Given the description of an element on the screen output the (x, y) to click on. 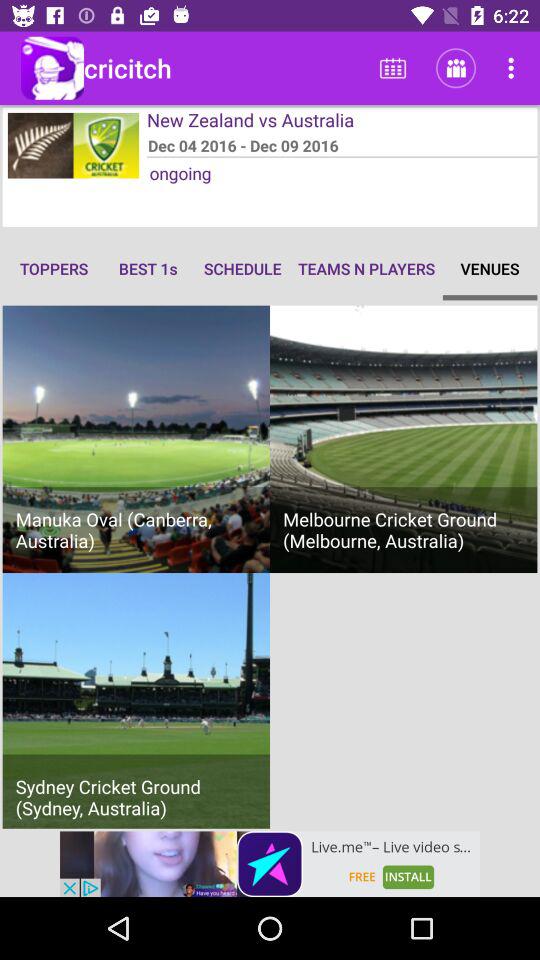
click discription (270, 864)
